Given the description of an element on the screen output the (x, y) to click on. 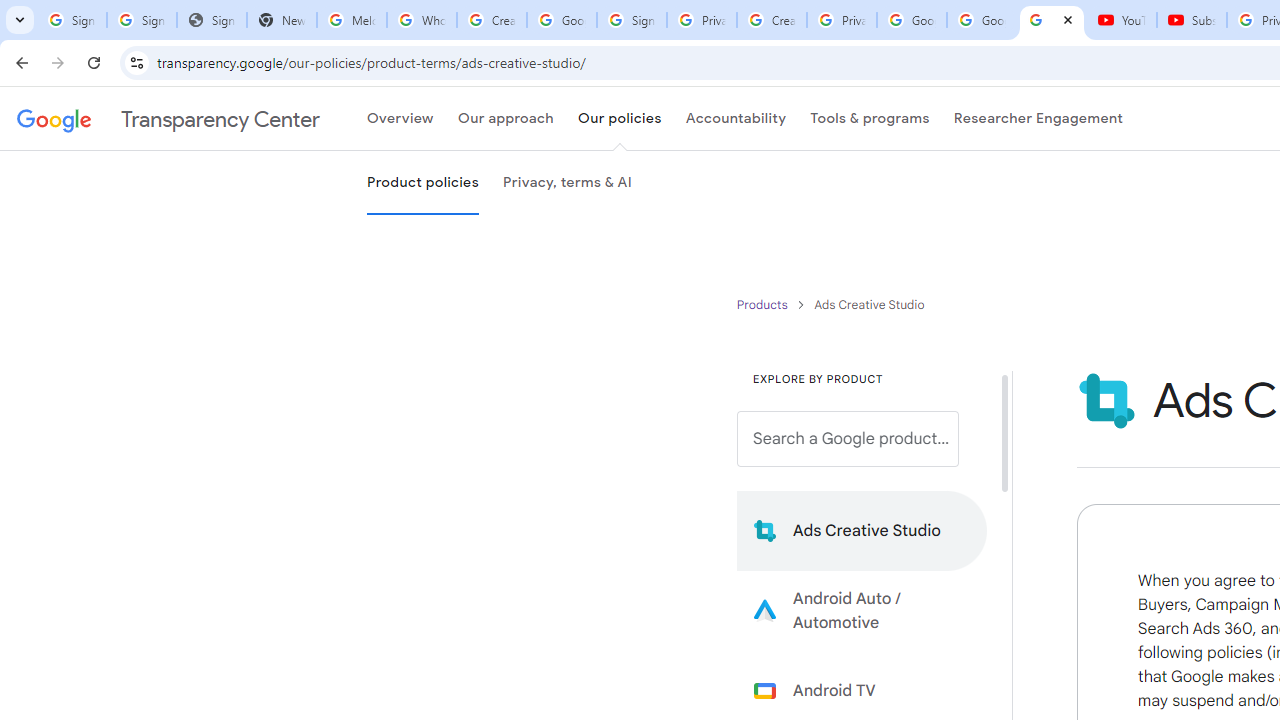
Learn more about Ads Creative Studio (862, 530)
Sign in - Google Accounts (141, 20)
Learn more about Ads Creative Studio (862, 530)
Product policies (763, 304)
Create your Google Account (772, 20)
